Given the description of an element on the screen output the (x, y) to click on. 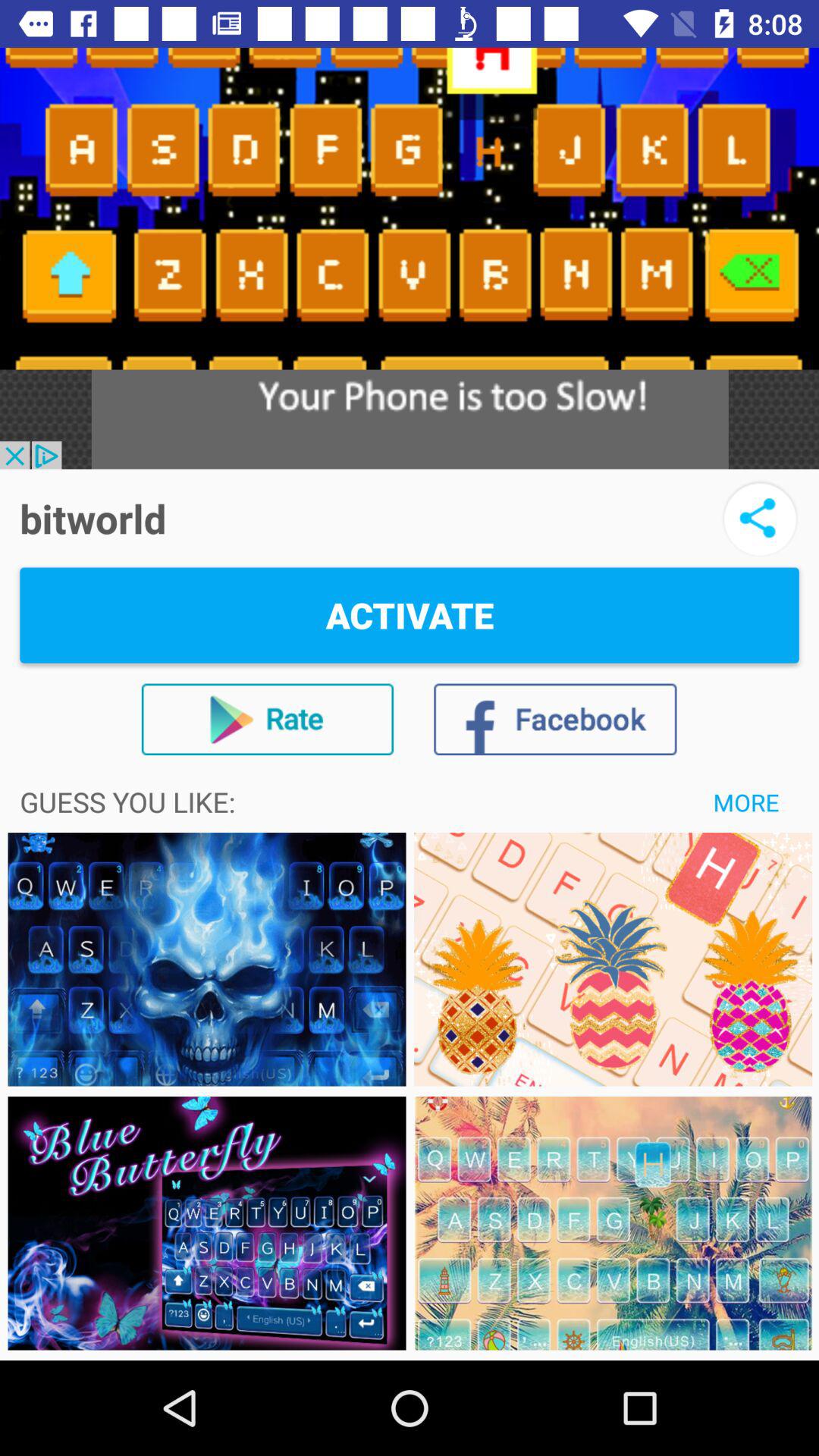
select item next to bitworld icon (760, 518)
